Given the description of an element on the screen output the (x, y) to click on. 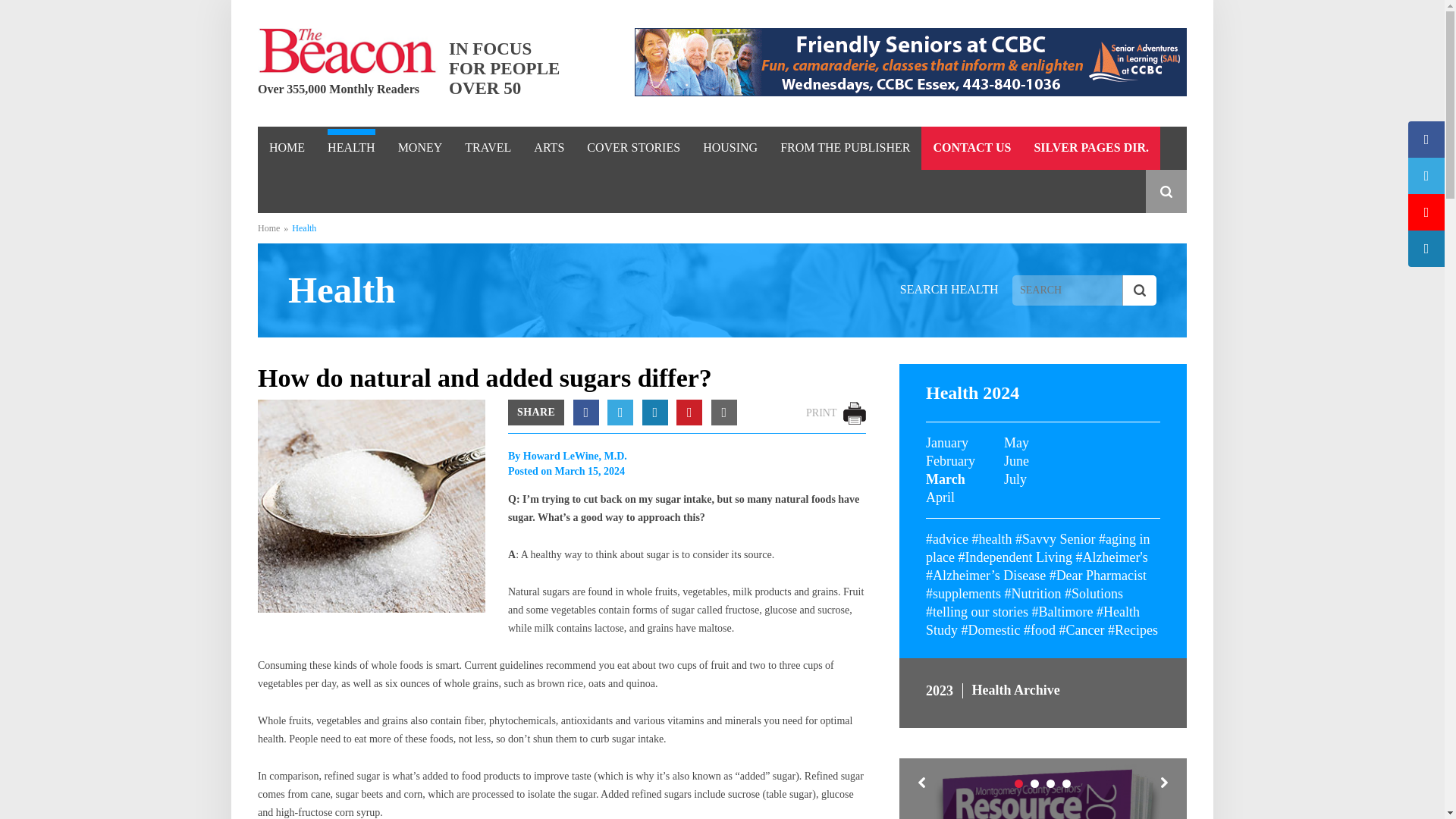
July (1042, 479)
HOME (286, 146)
January (965, 443)
SILVER PAGES DIR. (1090, 146)
Home (268, 227)
MONEY (419, 146)
TRAVEL (487, 146)
COVER STORIES (632, 146)
ARTS (549, 146)
March (965, 479)
PRINT (836, 411)
June (1042, 461)
FROM THE PUBLISHER (845, 146)
February (965, 461)
HEALTH (351, 146)
